Given the description of an element on the screen output the (x, y) to click on. 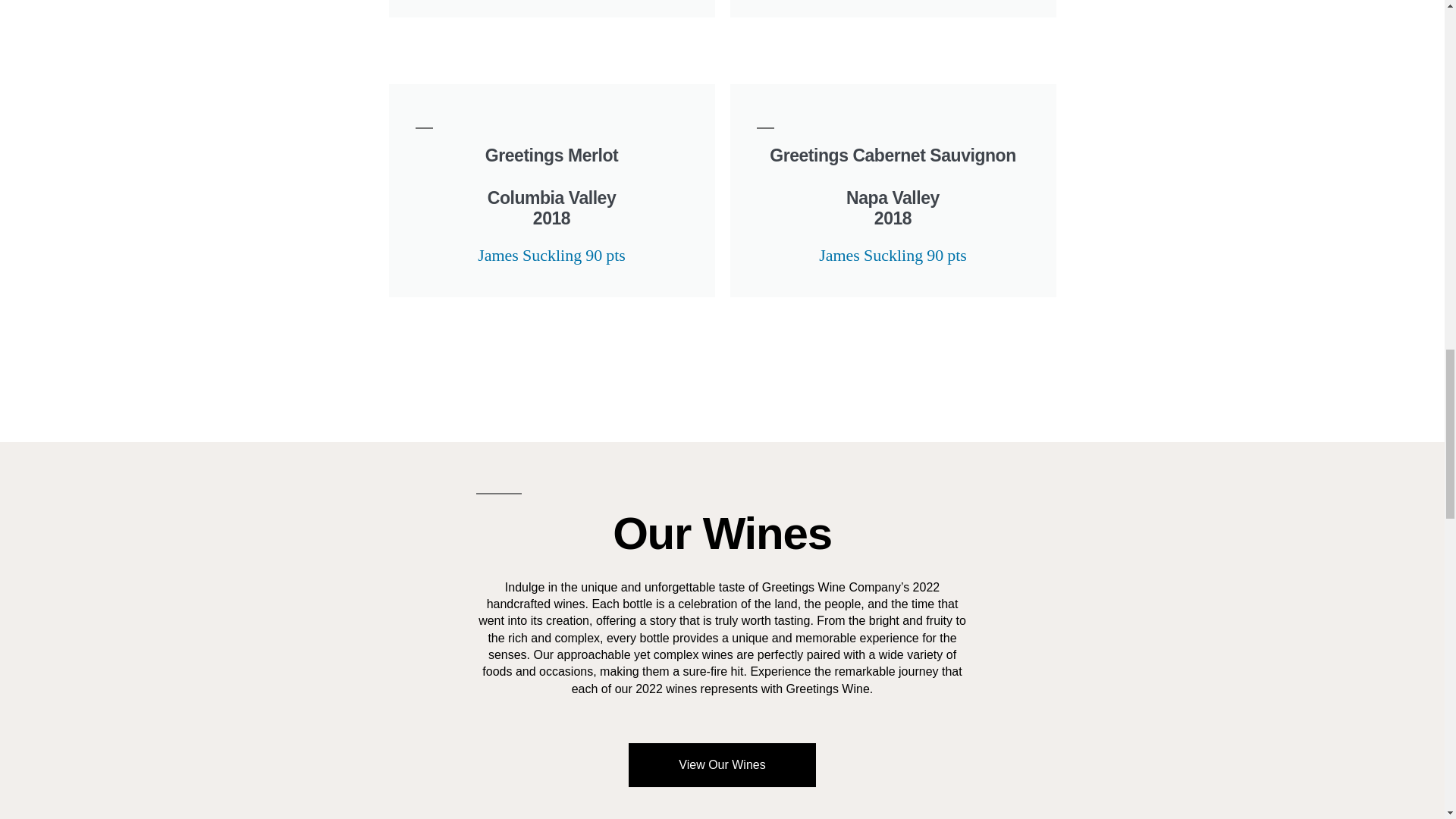
View Our Wines (721, 764)
James Suckling 90 pts (551, 255)
James Suckling 90 pts (892, 255)
